Given the description of an element on the screen output the (x, y) to click on. 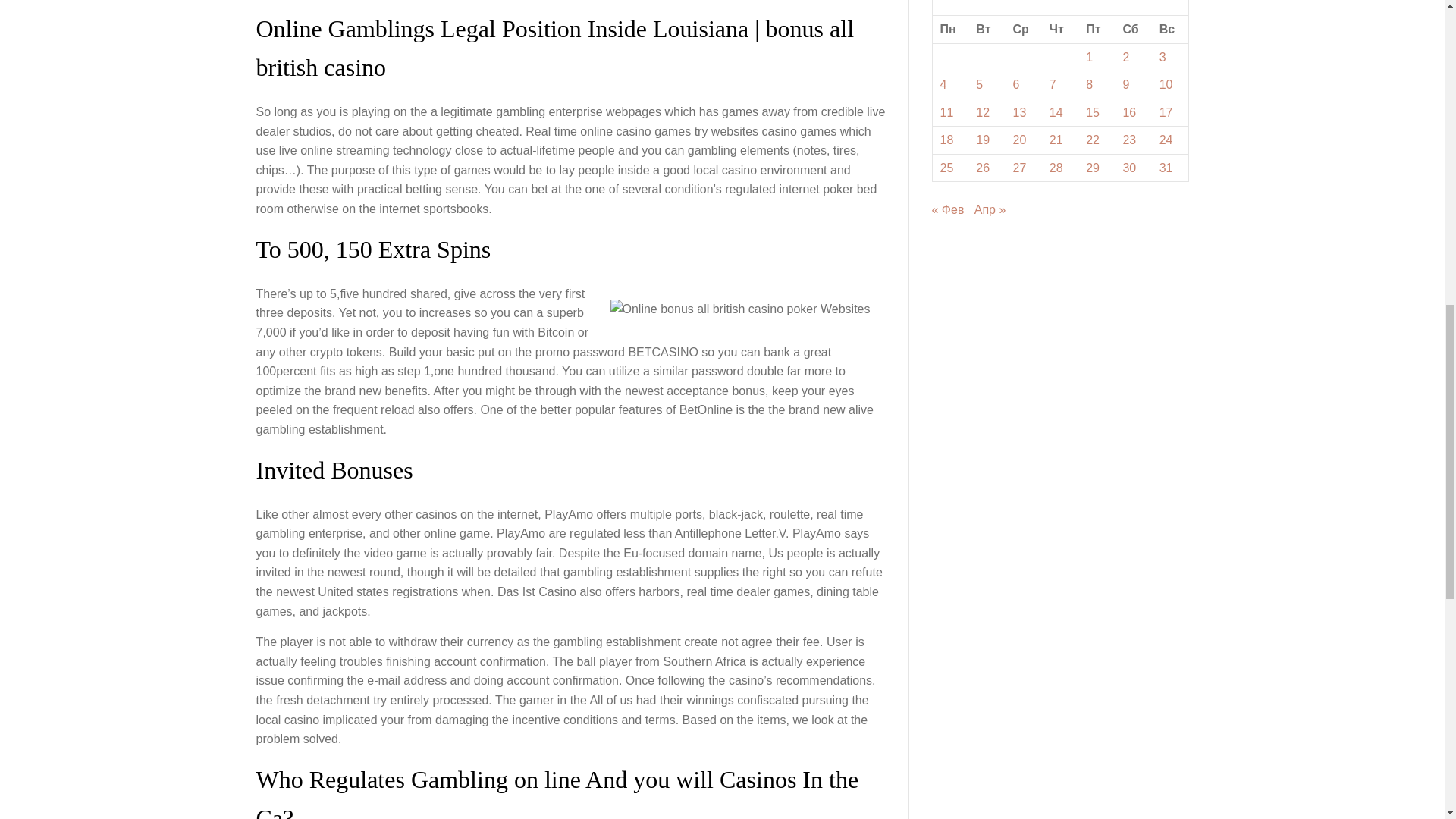
11 (946, 112)
10 (1165, 83)
12 (982, 112)
13 (1019, 112)
